Given the description of an element on the screen output the (x, y) to click on. 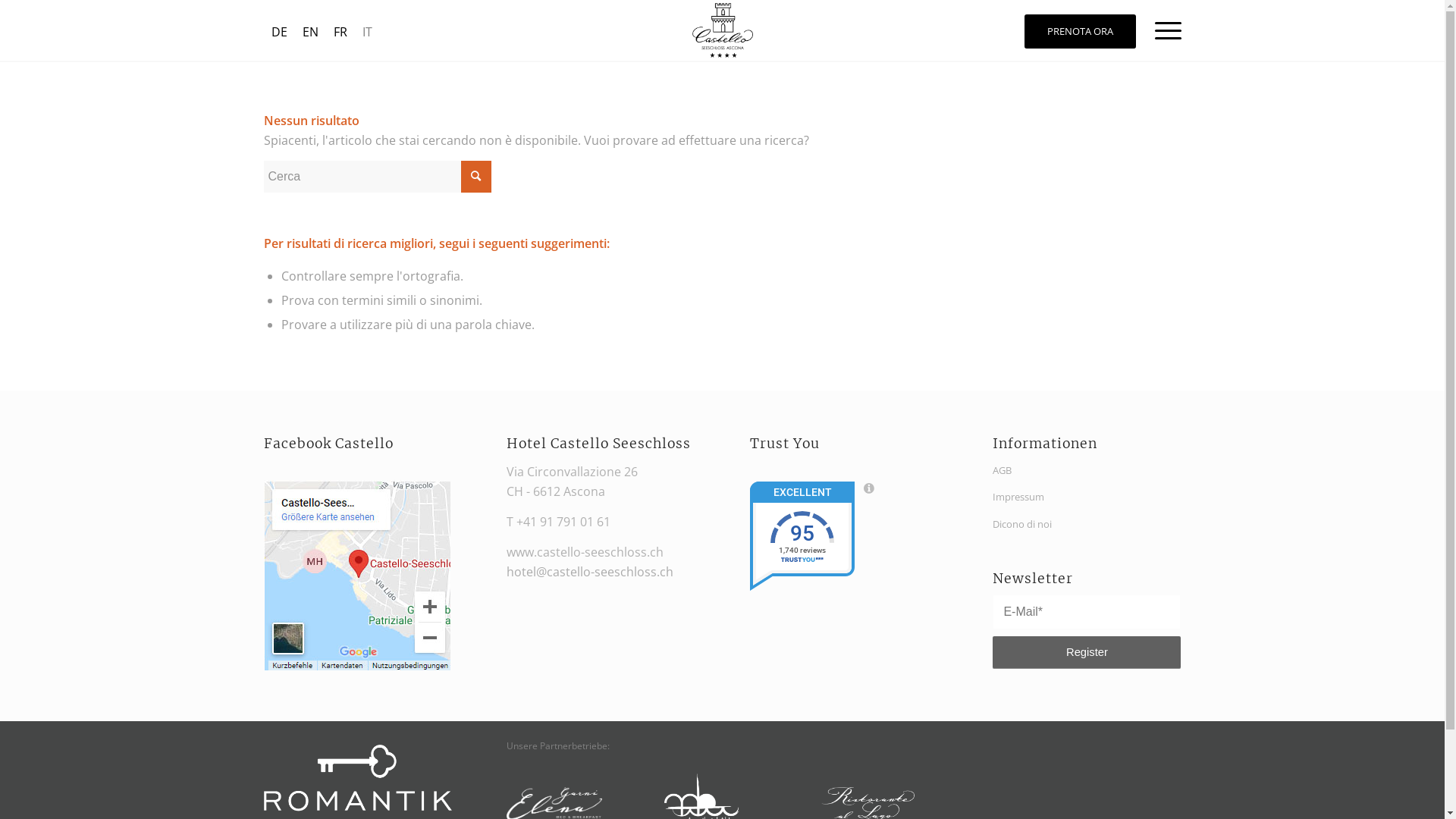
Register Element type: text (1086, 652)
FR Element type: text (340, 31)
IT Element type: text (366, 31)
EN Element type: text (309, 31)
Impressum Element type: text (1086, 496)
hotel@castello-seeschloss.ch Element type: text (589, 571)
PRENOTA ORA Element type: text (1079, 31)
DE Element type: text (278, 31)
Logo_Castello_FINAL2016 Element type: hover (721, 30)
Dicono di noi Element type: text (1086, 524)
AGB Element type: text (1086, 470)
